Given the description of an element on the screen output the (x, y) to click on. 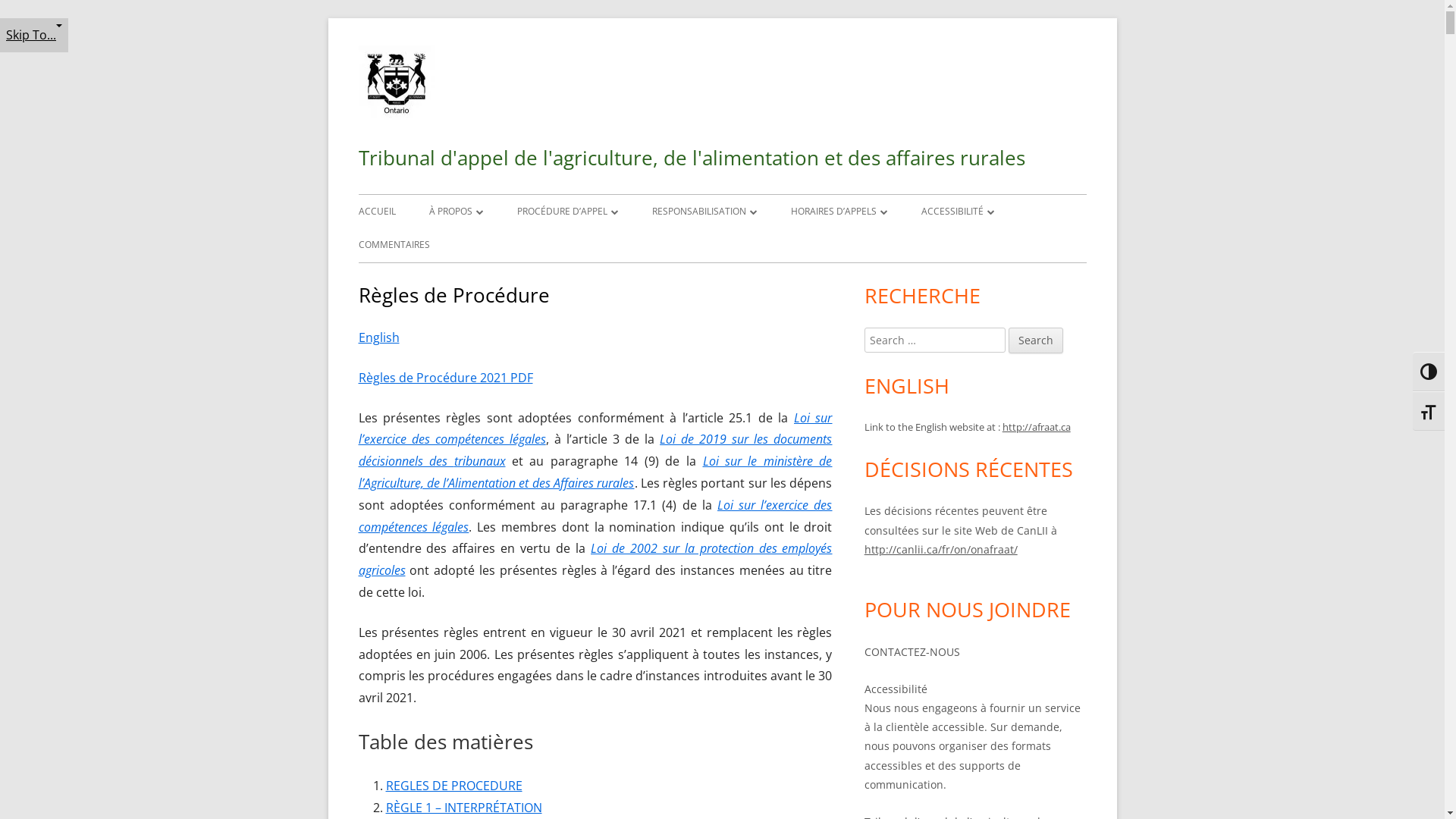
Toggle Font size Element type: text (1428, 410)
COMMENTAIRES Element type: text (393, 244)
RESPONSABILISATION Element type: text (704, 211)
ACCUEIL Element type: text (376, 211)
REGLES DE PROCEDURE Element type: text (453, 785)
English Element type: text (377, 337)
QUE SONT LE TRIBUNAL Element type: text (515, 243)
HORAIRE ACCESSIBLE Element type: text (876, 243)
Toggle High Contrast Element type: text (1428, 371)
Skip To... Element type: text (34, 35)
http://afraat.ca Element type: text (1036, 426)
http://canlii.ca/fr/on/onafraat/ Element type: text (940, 549)
Search Element type: text (1035, 340)
